Given the description of an element on the screen output the (x, y) to click on. 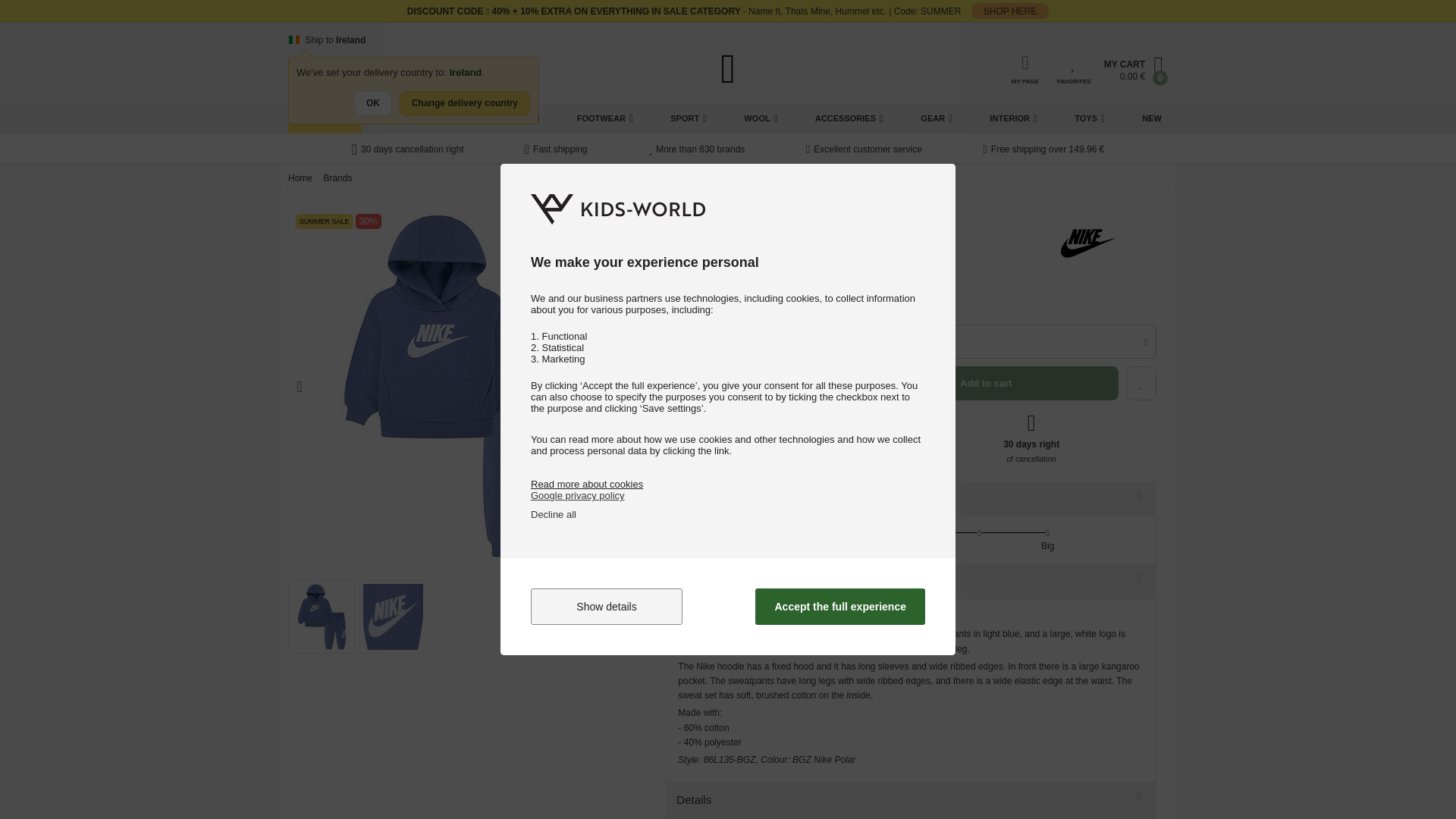
Accept the full experience (839, 606)
1 (687, 341)
Decline all (553, 514)
Show details (606, 606)
Google privacy policy (577, 495)
Read more about cookies (587, 483)
